Given the description of an element on the screen output the (x, y) to click on. 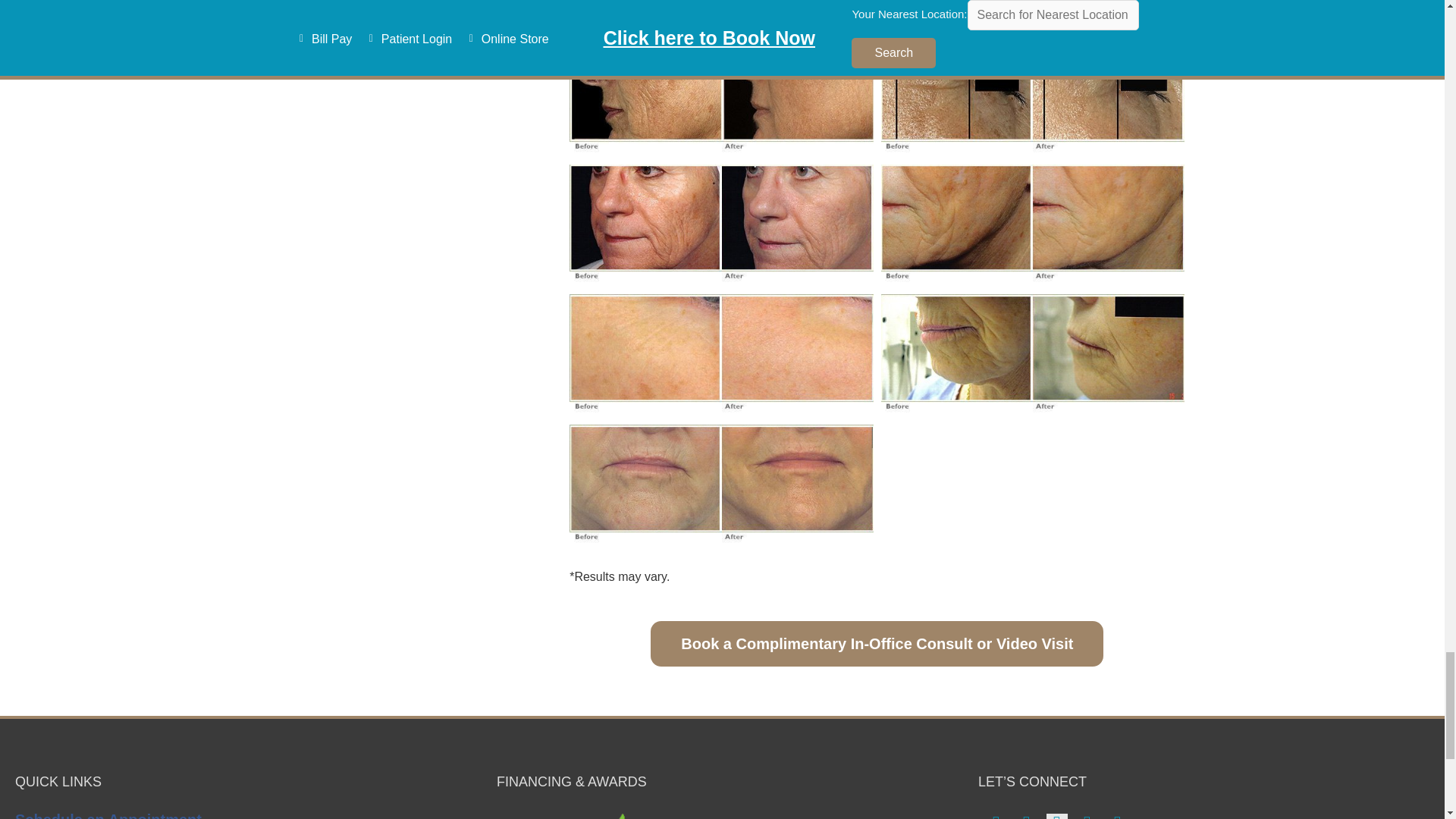
wrinkles aging7 (721, 225)
wrinkles aging11 (721, 486)
wrinkles aging3 1 (1032, 13)
wrinkles aging2 1 (721, 13)
wrinkles aging4 1 (721, 95)
wrinkles aging10 (1032, 355)
wrinkles aging5 1 (1032, 95)
wrinkles aging8 (1032, 225)
